Given the description of an element on the screen output the (x, y) to click on. 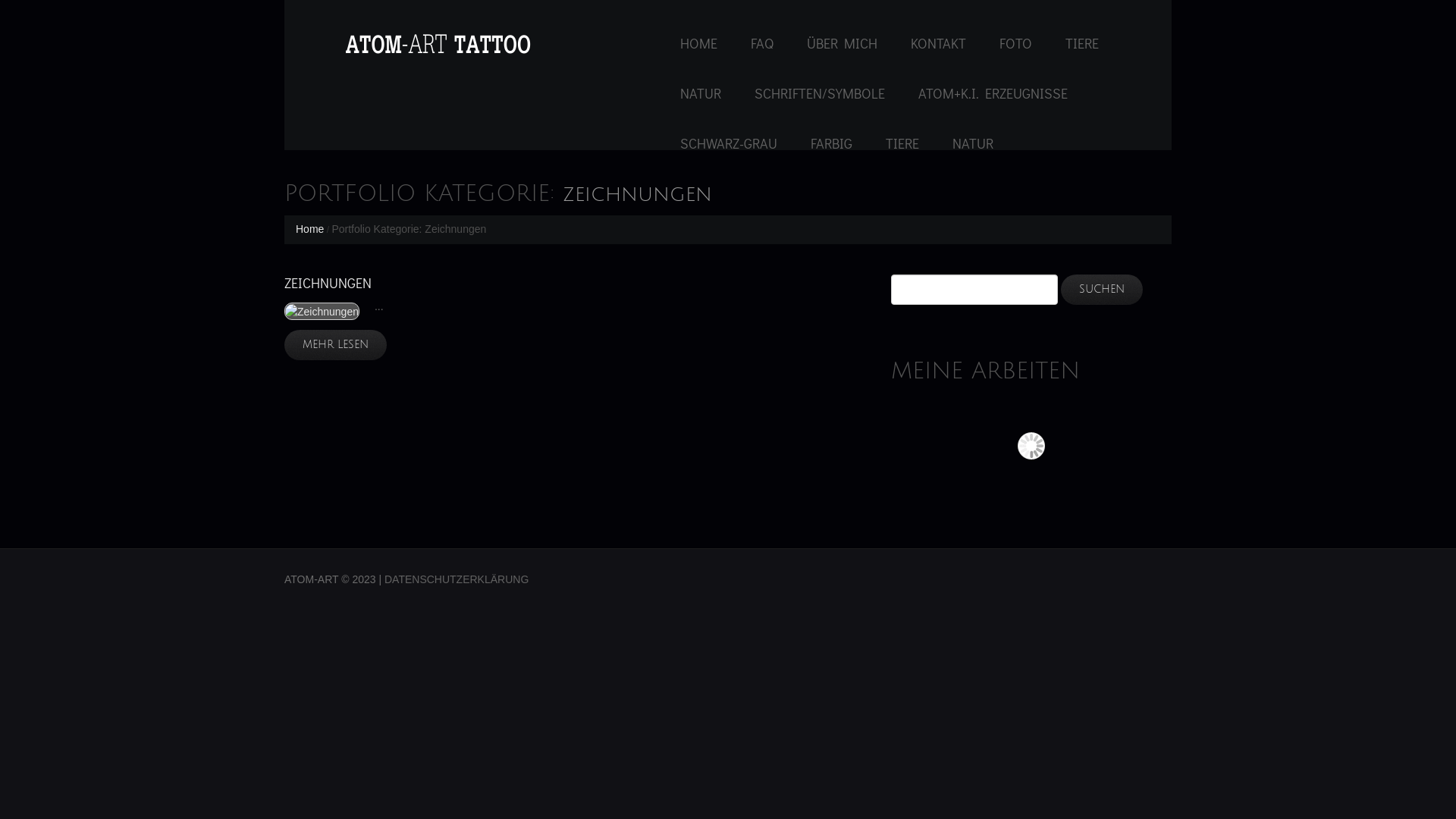
NATUR Element type: text (972, 143)
SCHRIFTEN/SYMBOLE Element type: text (819, 93)
FAQ Element type: text (761, 43)
FARBIG Element type: text (831, 143)
TIERE Element type: text (902, 143)
KONTAKT Element type: text (938, 43)
SCHWARZ-GRAU Element type: text (728, 143)
ATOM+K.I. ERZEUGNISSE Element type: text (992, 93)
ZEICHNUNGEN Element type: text (327, 282)
Tattoo + Co. Element type: hover (437, 44)
MEHR LESEN Element type: text (335, 344)
Zeichnungen Element type: hover (321, 311)
HOME Element type: text (698, 43)
FOTO Element type: text (1015, 43)
suchen Element type: text (1101, 289)
NATUR Element type: text (700, 93)
TIERE Element type: text (1081, 43)
Home Element type: text (309, 228)
